Given the description of an element on the screen output the (x, y) to click on. 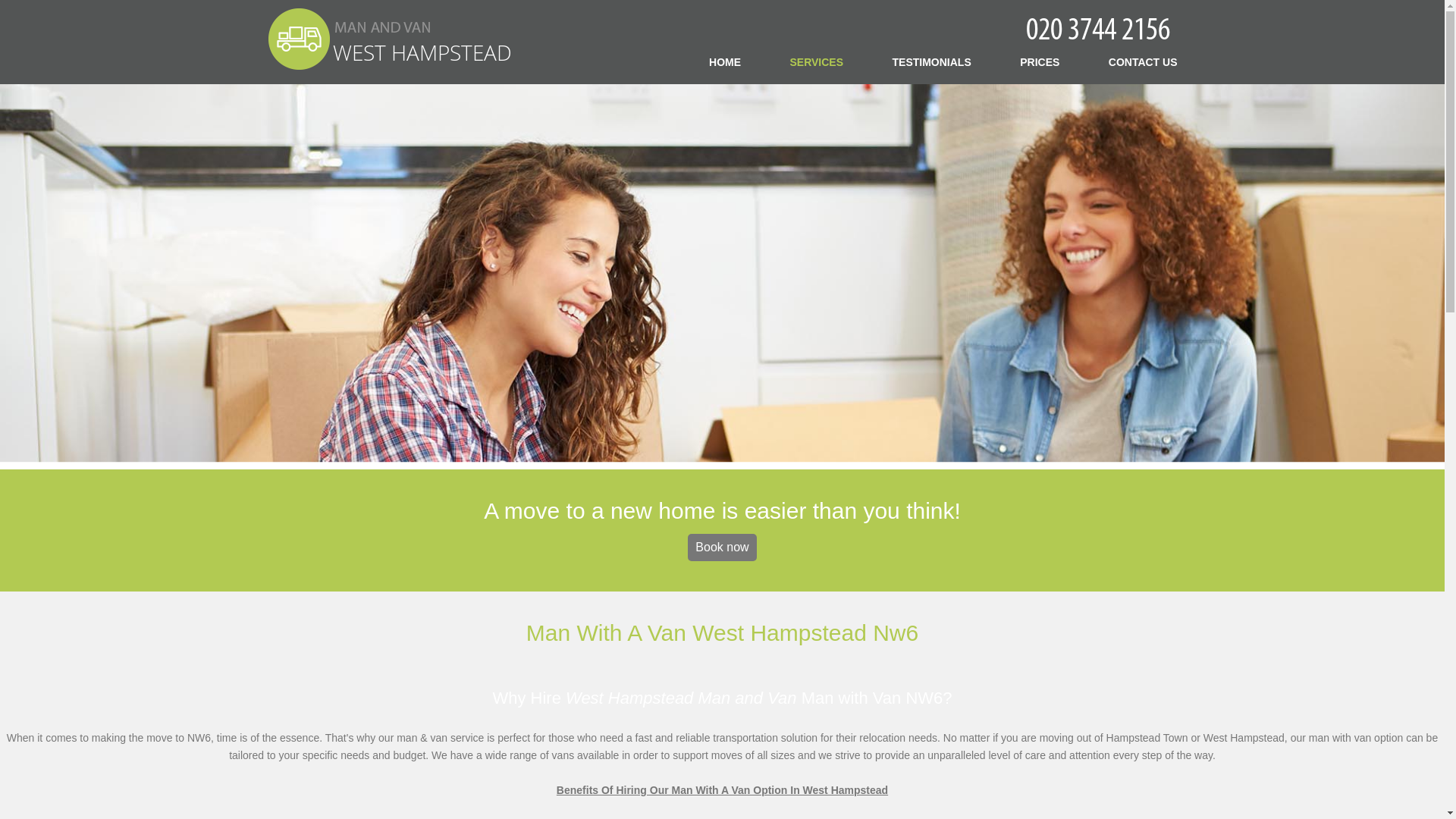
Book now (721, 547)
TESTIMONIALS (931, 61)
Call Now! (1100, 27)
HOME (725, 61)
PRICES (1039, 61)
SERVICES (817, 61)
CONTACT US (1142, 61)
